Given the description of an element on the screen output the (x, y) to click on. 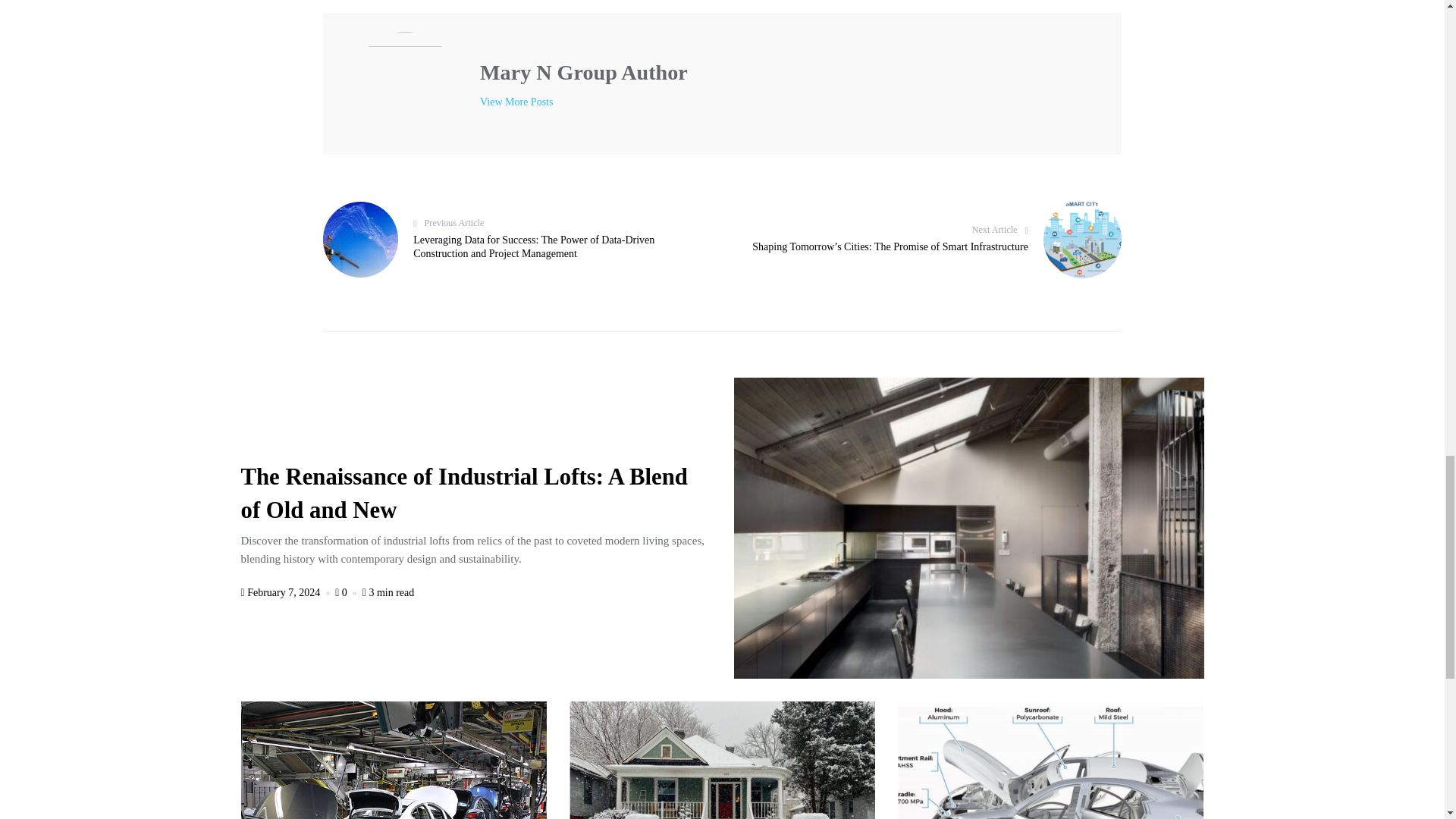
The Renaissance of Industrial Lofts: A Blend of Old and New (464, 495)
3 min read (388, 592)
February 7, 2024 (287, 592)
View More Posts (516, 101)
0 (346, 592)
